Given the description of an element on the screen output the (x, y) to click on. 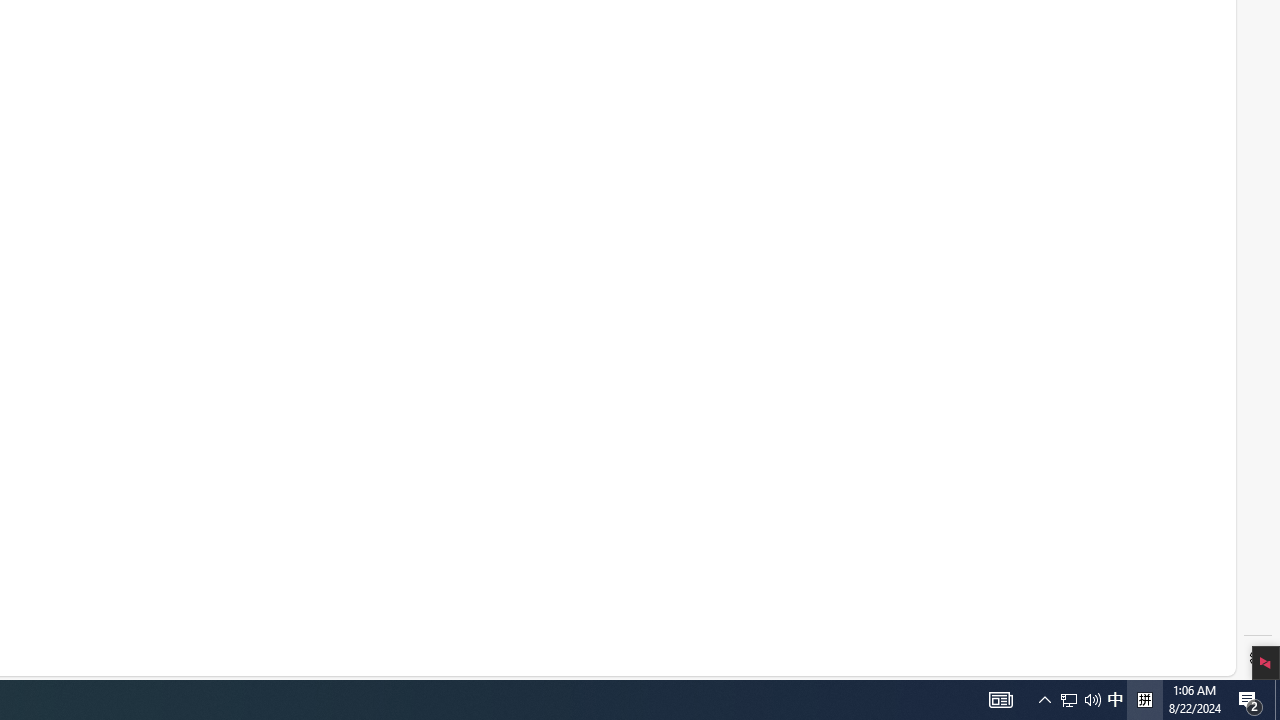
Settings (1258, 658)
